Given the description of an element on the screen output the (x, y) to click on. 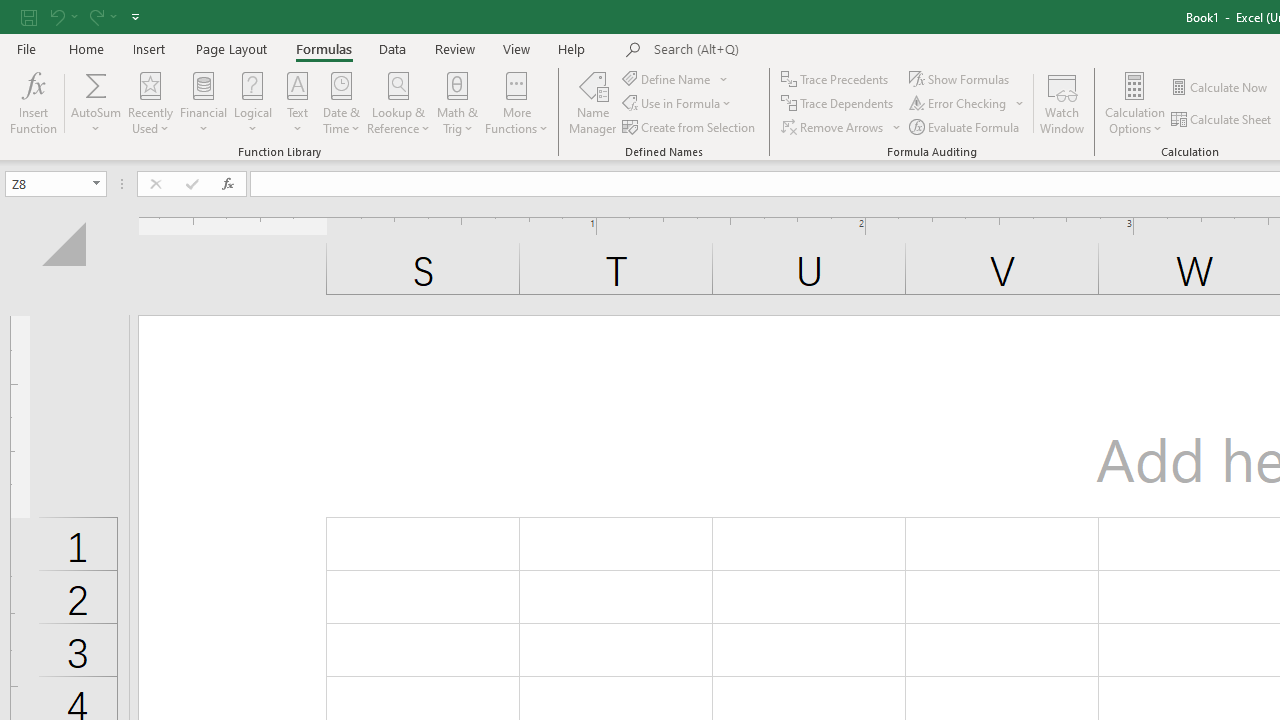
AutoSum (96, 102)
Logical (253, 102)
Remove Arrows (833, 126)
Trace Precedents (836, 78)
Calculate Now (1220, 87)
Financial (203, 102)
Error Checking... (967, 103)
Calculation Options (1135, 102)
